Given the description of an element on the screen output the (x, y) to click on. 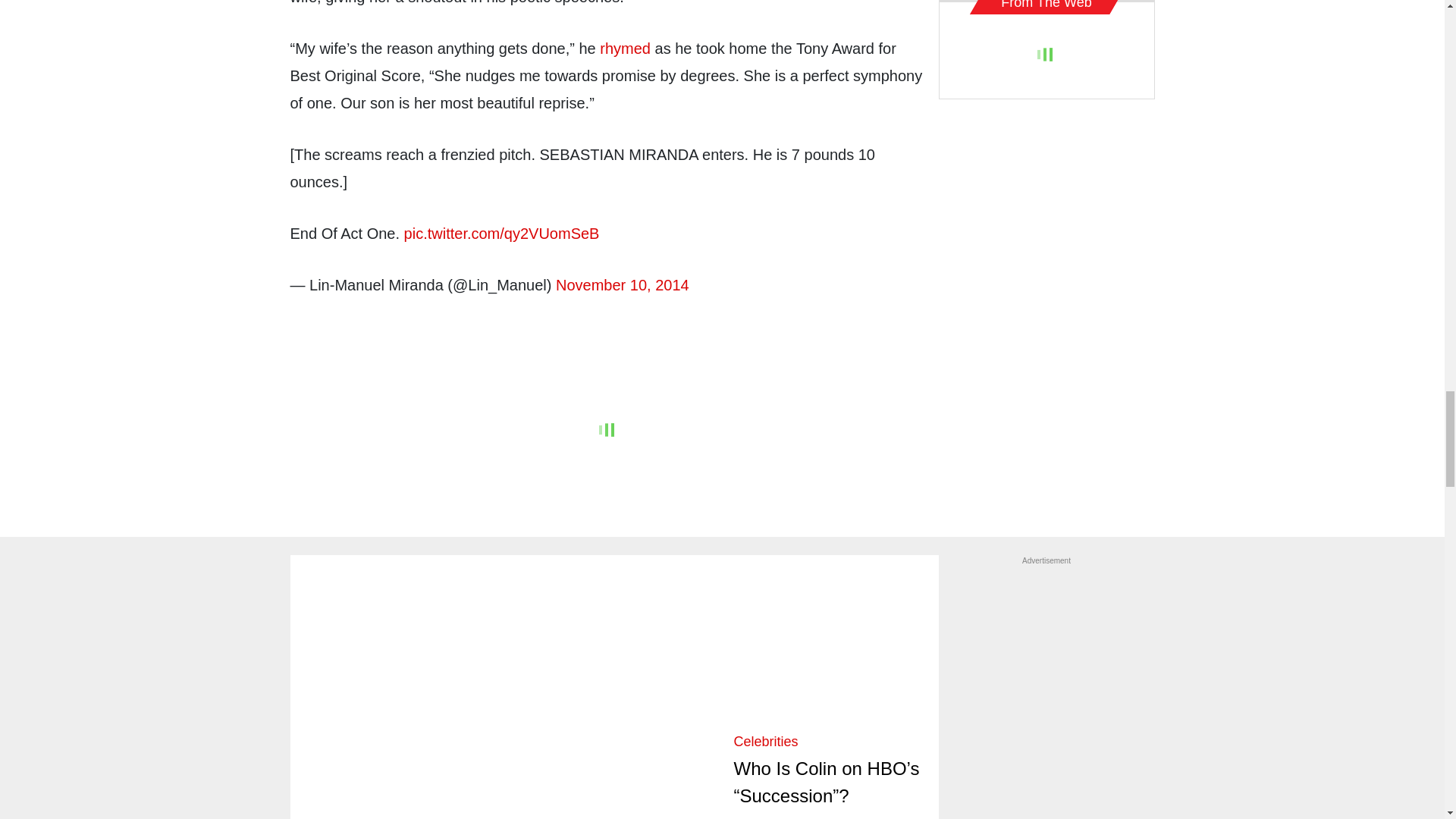
Category Name (765, 741)
rhymed (624, 48)
November 10, 2014 (622, 284)
